Given the description of an element on the screen output the (x, y) to click on. 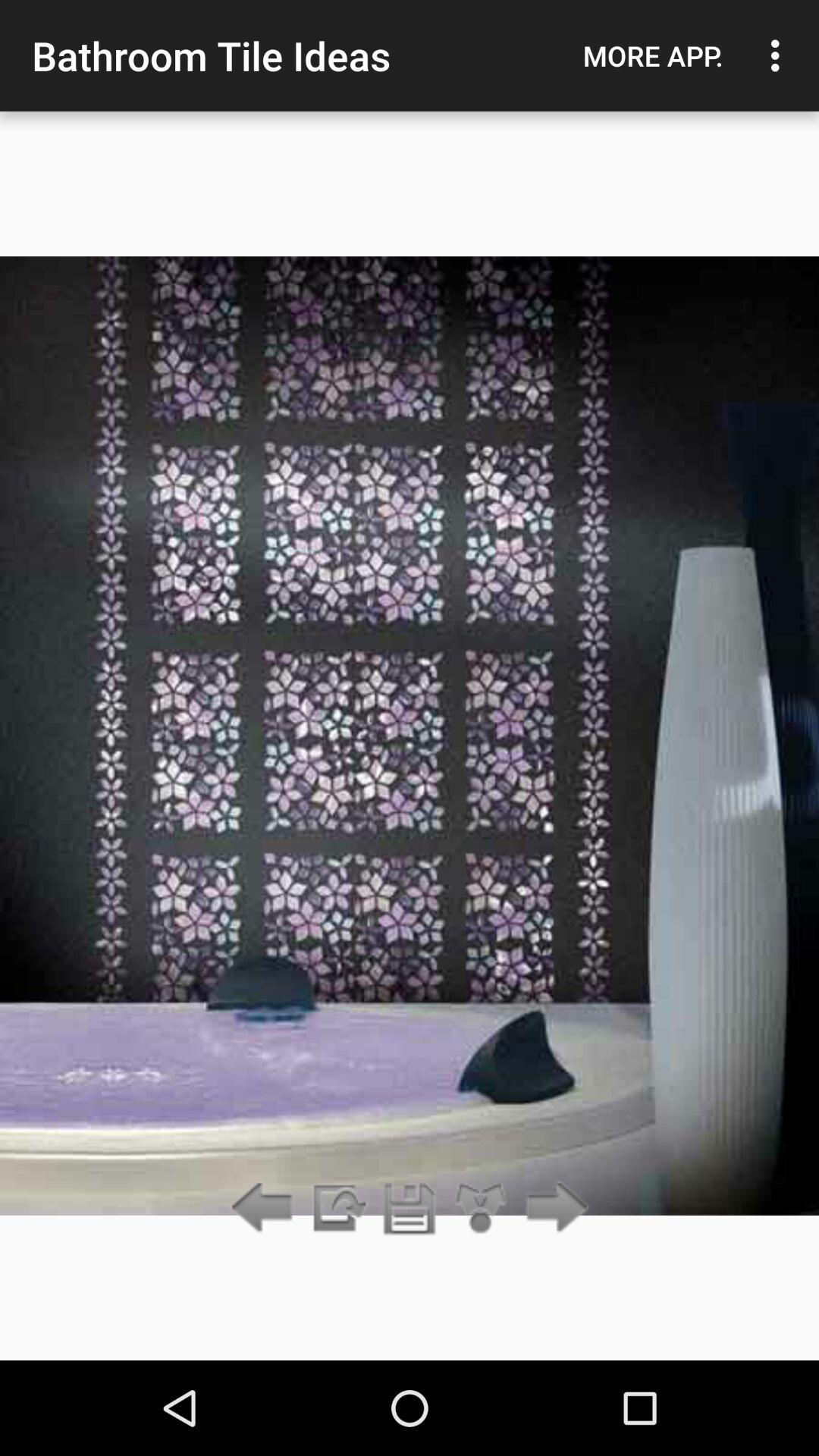
save (409, 1208)
